Given the description of an element on the screen output the (x, y) to click on. 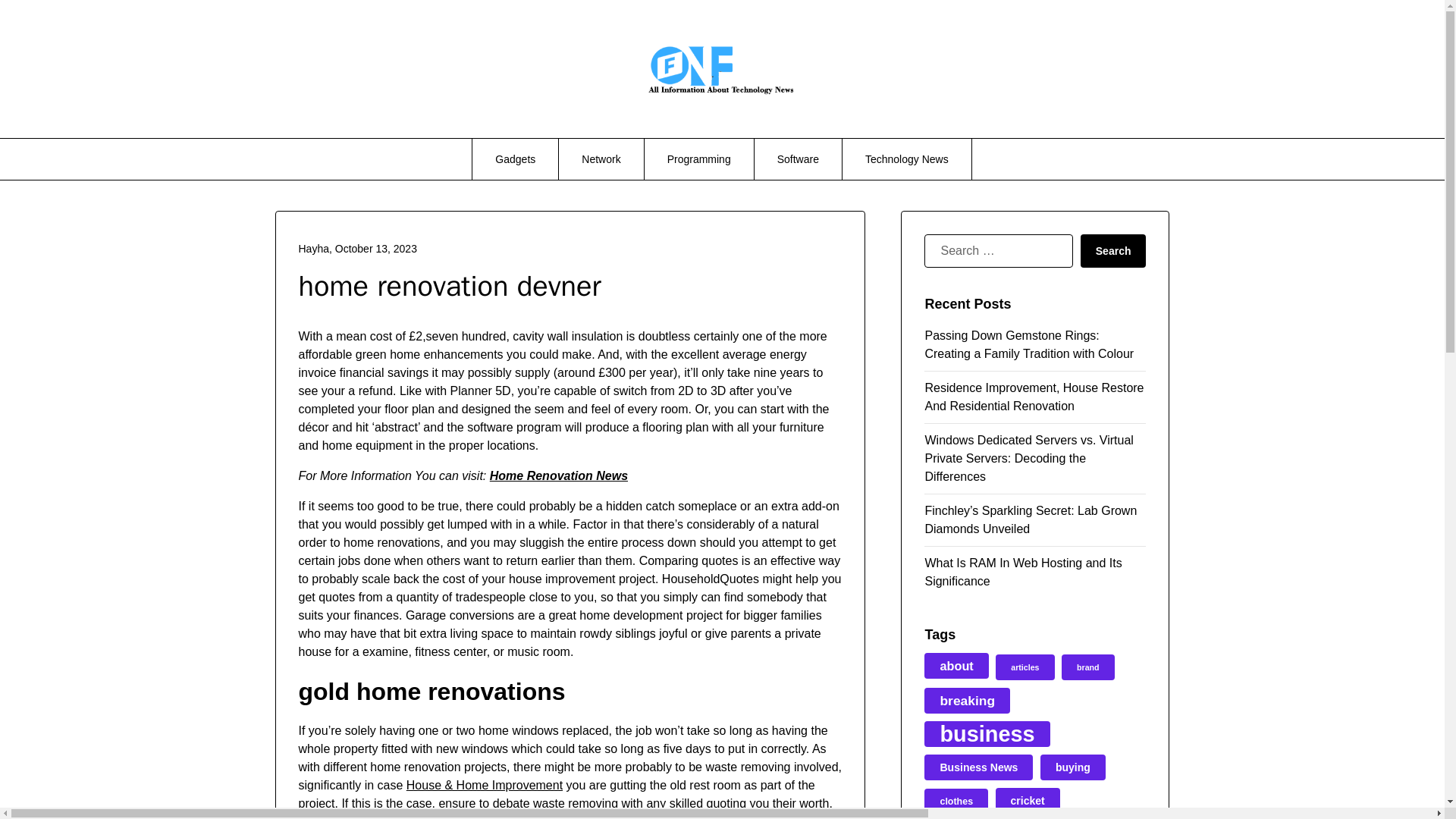
Software (797, 158)
Search (1113, 250)
Search (1113, 250)
Technology News (907, 158)
breaking (967, 700)
about (956, 665)
articles (1024, 667)
Programming (699, 158)
Search (1113, 250)
